Given the description of an element on the screen output the (x, y) to click on. 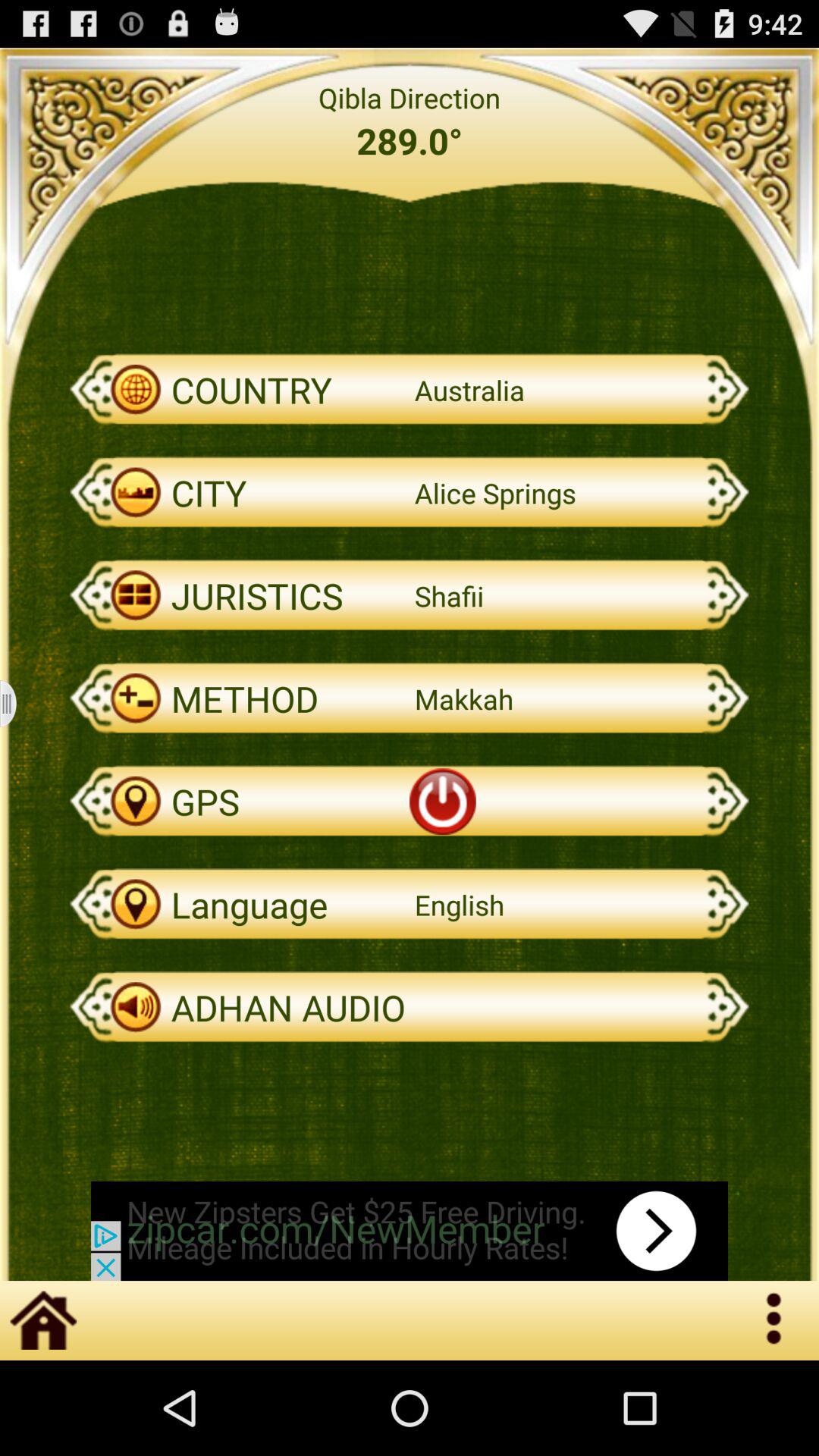
hide button (18, 703)
